Given the description of an element on the screen output the (x, y) to click on. 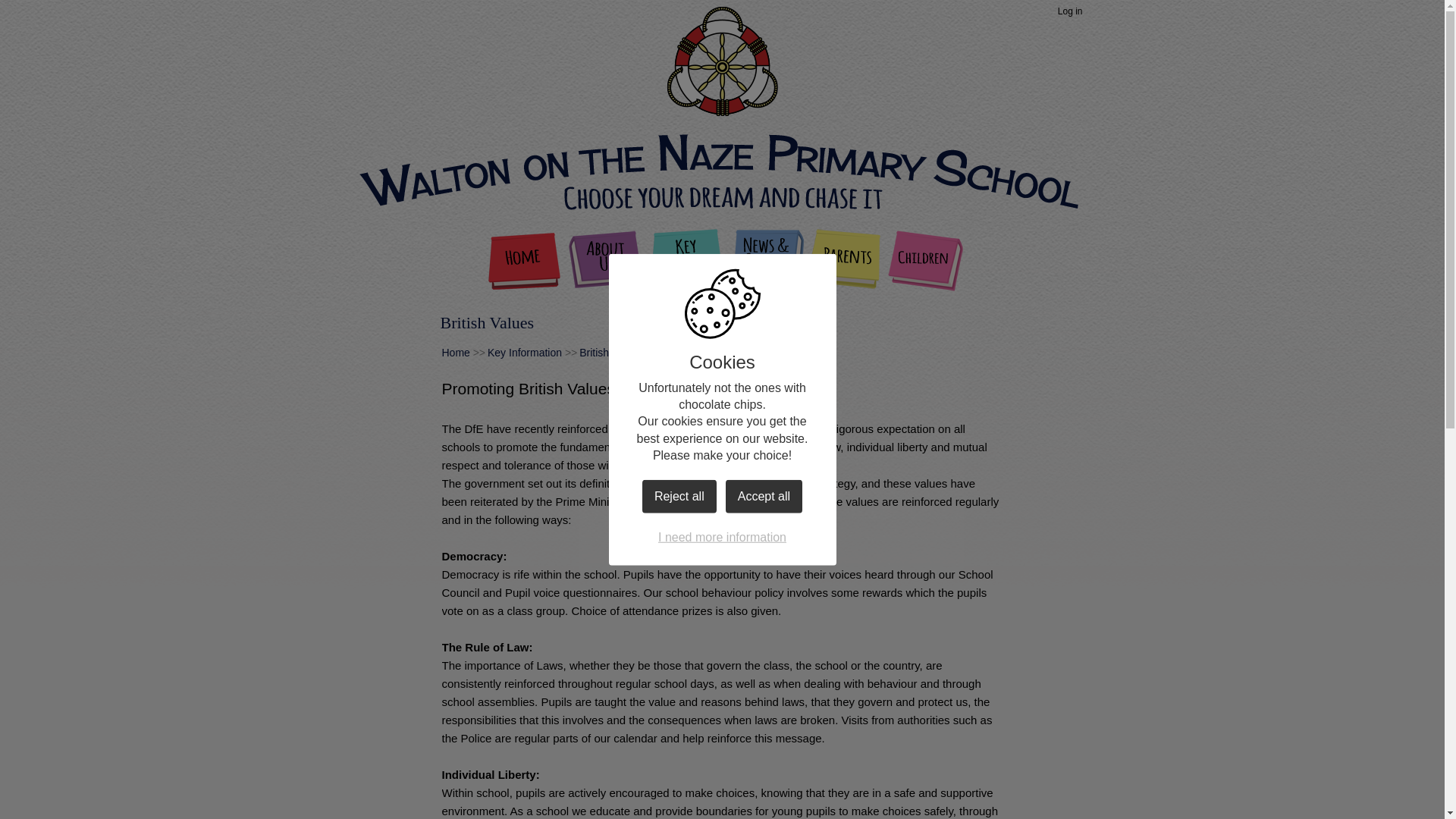
Parents (846, 263)
British Values (611, 352)
Key Information (524, 352)
Home Page (722, 64)
Home (527, 263)
Key Information (686, 263)
Home (454, 352)
Log in (1070, 11)
About Us (606, 263)
Home Page (722, 64)
